Given the description of an element on the screen output the (x, y) to click on. 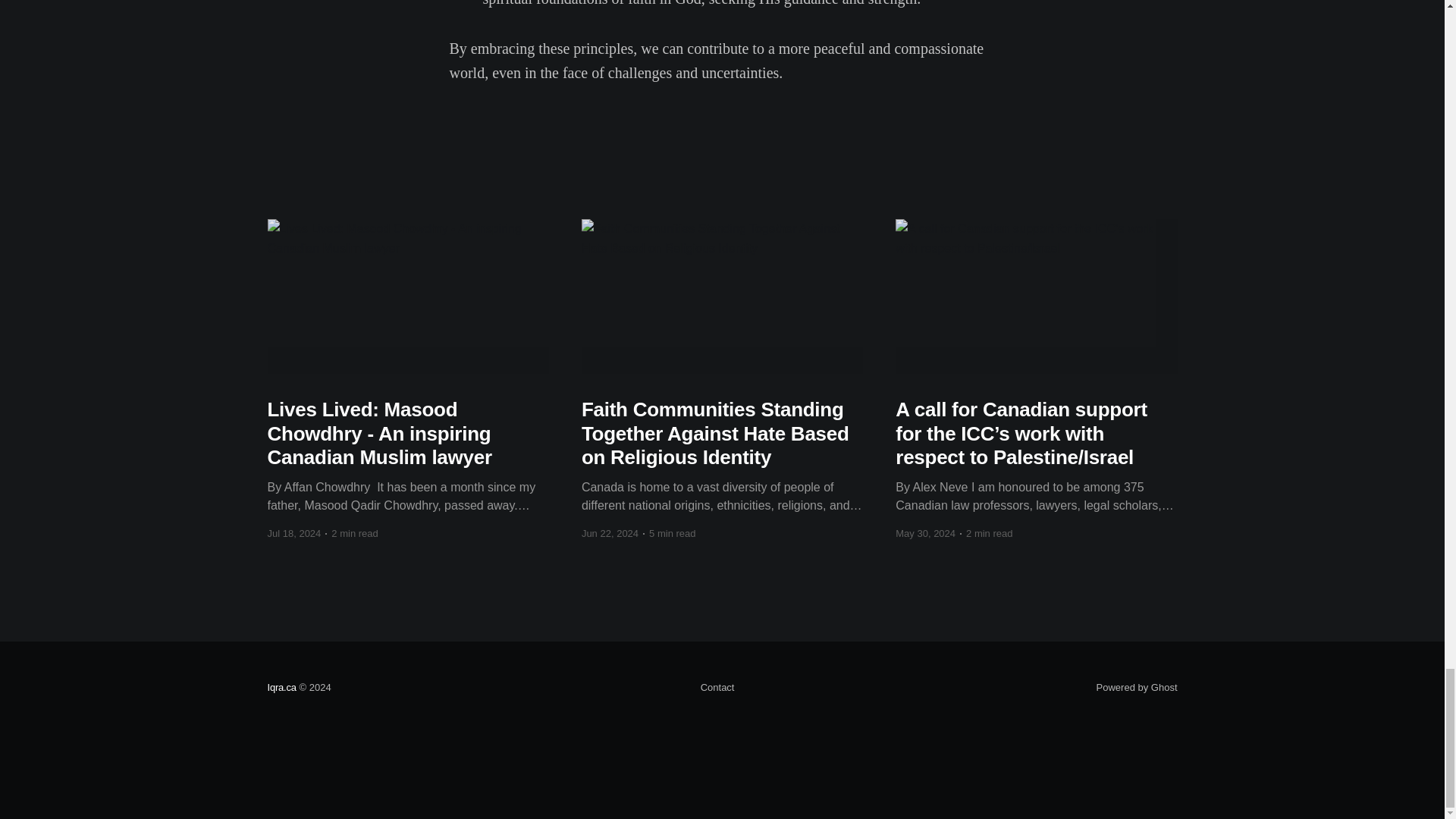
Iqra.ca (280, 686)
Contact (717, 687)
Powered by Ghost (1136, 686)
